Given the description of an element on the screen output the (x, y) to click on. 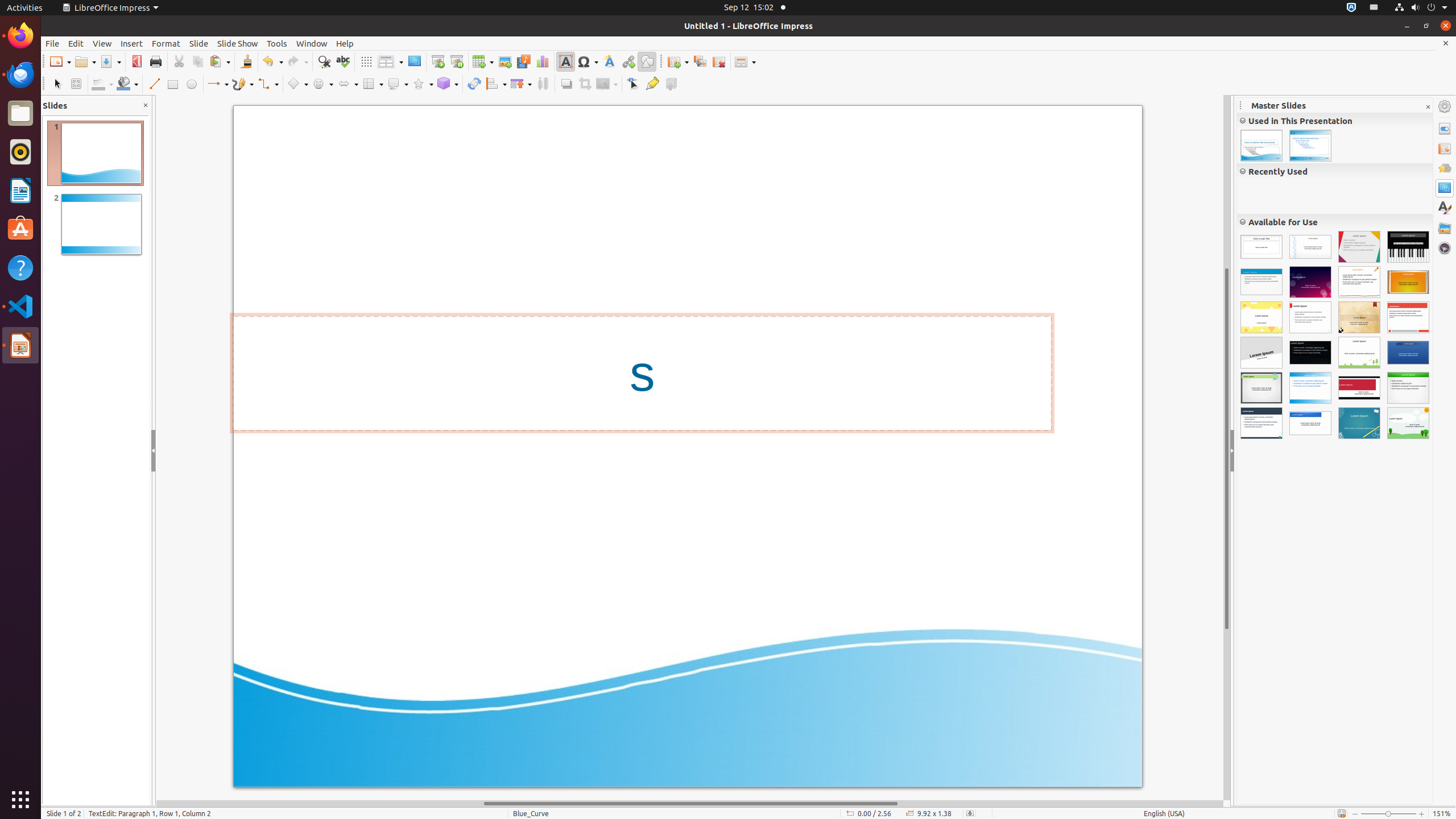
Master Slide Element type: push-button (413, 61)
File Element type: menu (51, 43)
Animation Element type: radio-button (1444, 168)
Find & Replace Element type: toggle-button (323, 61)
DNA Element type: list-item (1309, 246)
